Given the description of an element on the screen output the (x, y) to click on. 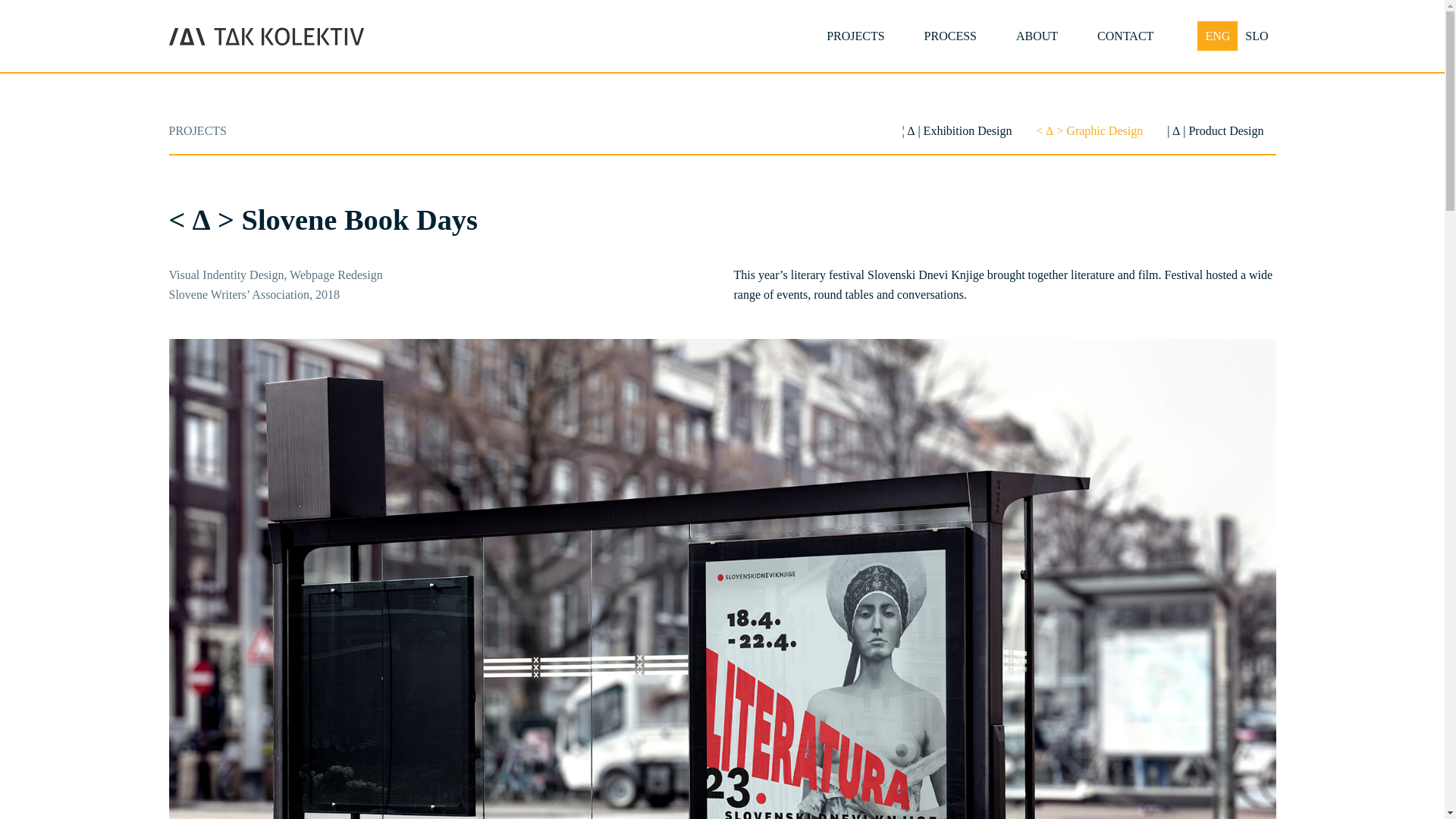
CONTACT (1125, 36)
PROCESS (949, 36)
PROJECTS (855, 36)
ABOUT (1036, 36)
SLO (1256, 36)
ENG (1216, 36)
